Given the description of an element on the screen output the (x, y) to click on. 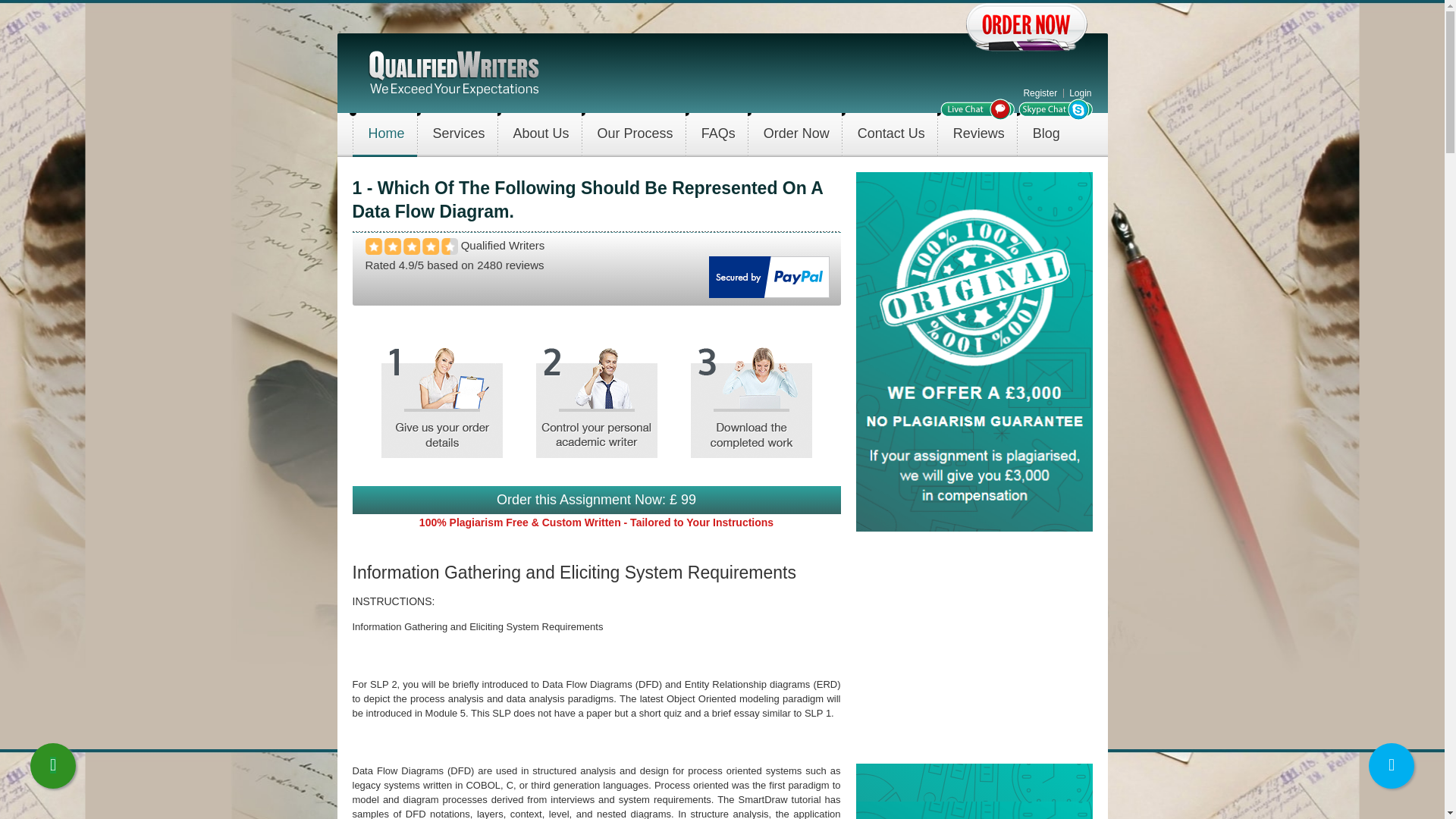
Reviews (978, 135)
Home (386, 135)
Services (458, 135)
Order Now (796, 135)
Home (453, 71)
Our Process (635, 135)
About Us (540, 135)
Register (1040, 92)
Login (1079, 92)
FAQs (718, 135)
